Given the description of an element on the screen output the (x, y) to click on. 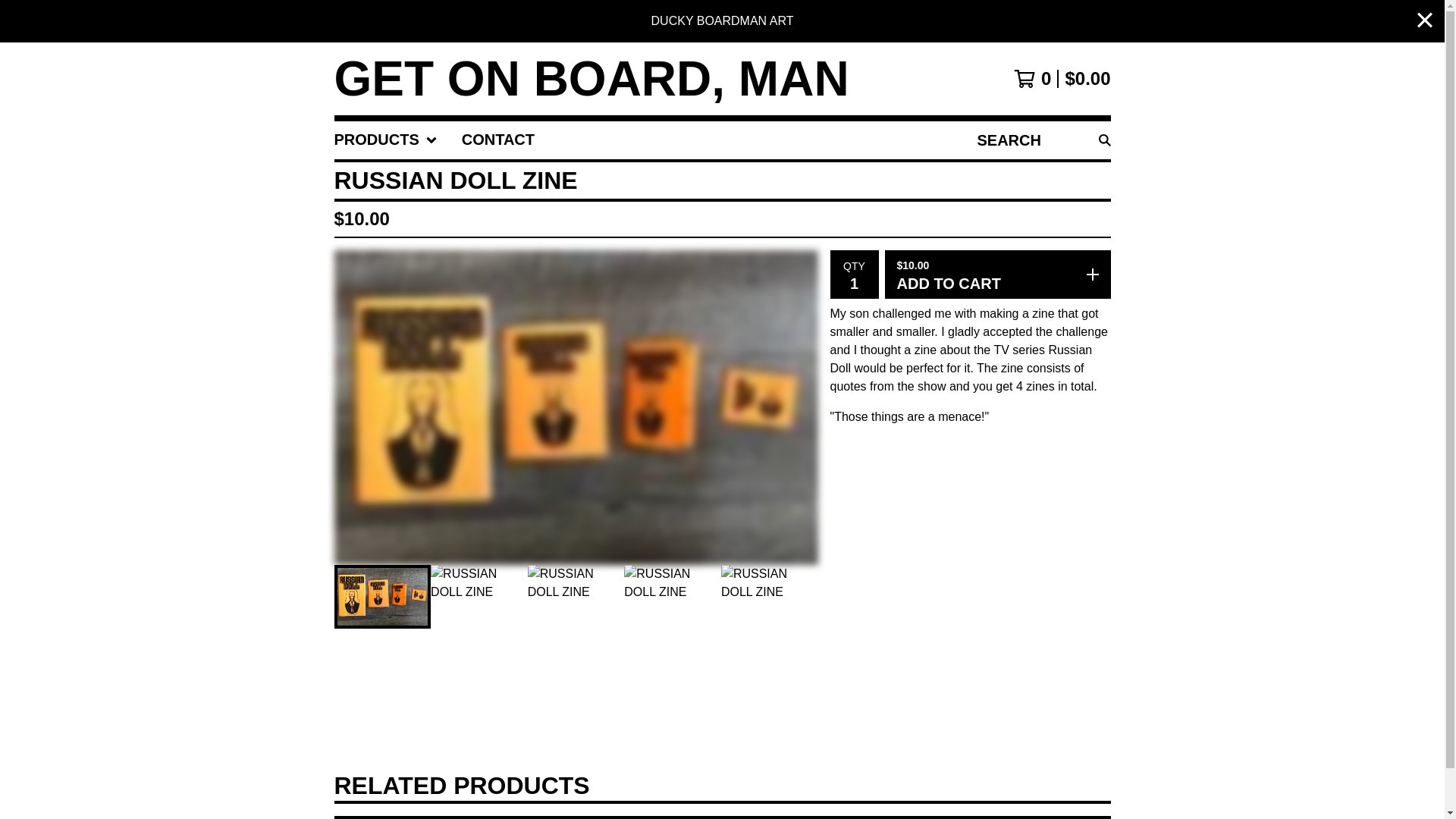
GET ON BOARD, MAN (590, 78)
View cart (1061, 78)
CONTACT (497, 139)
Home (590, 78)
PRODUCTS (384, 139)
1 (853, 282)
Add to Cart (996, 274)
